Given the description of an element on the screen output the (x, y) to click on. 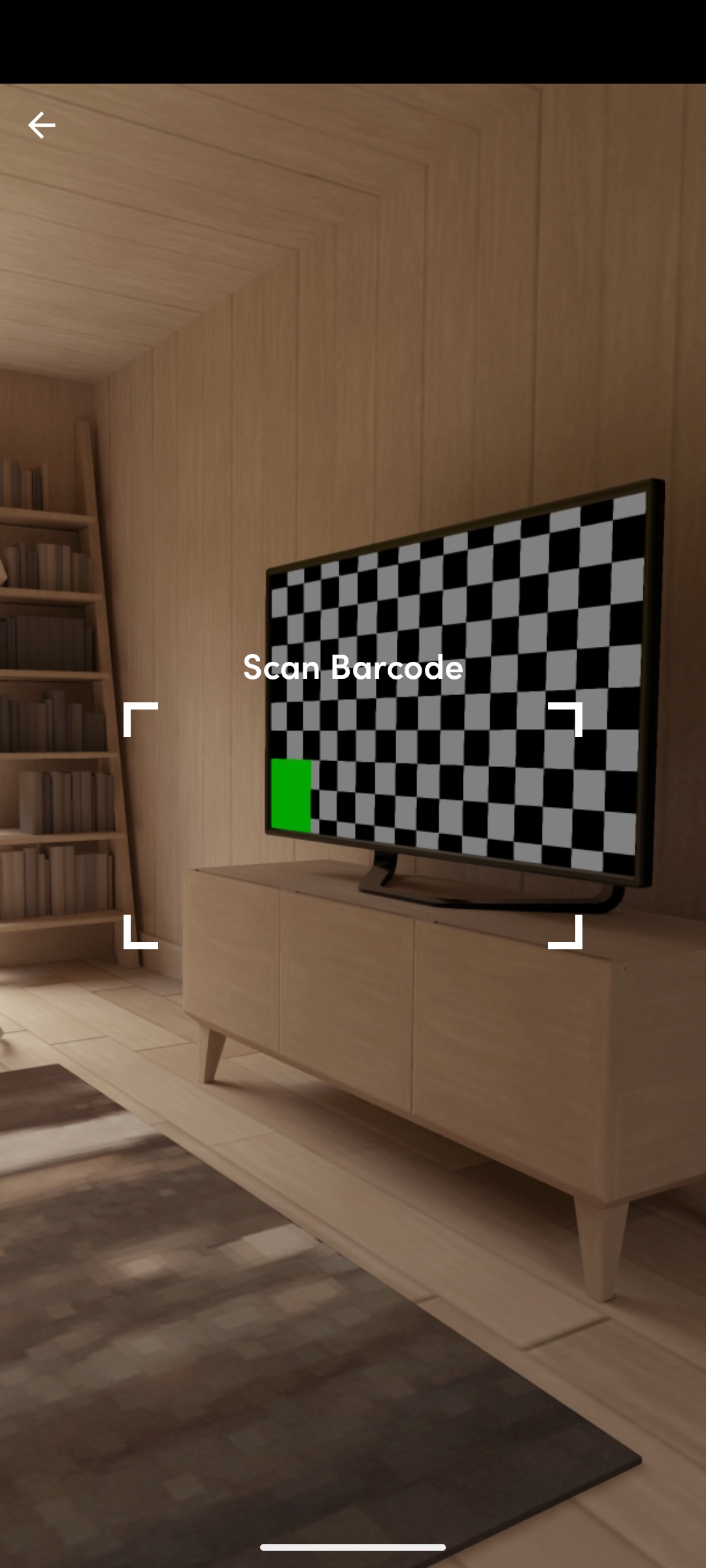
top_left_action (41, 125)
